Given the description of an element on the screen output the (x, y) to click on. 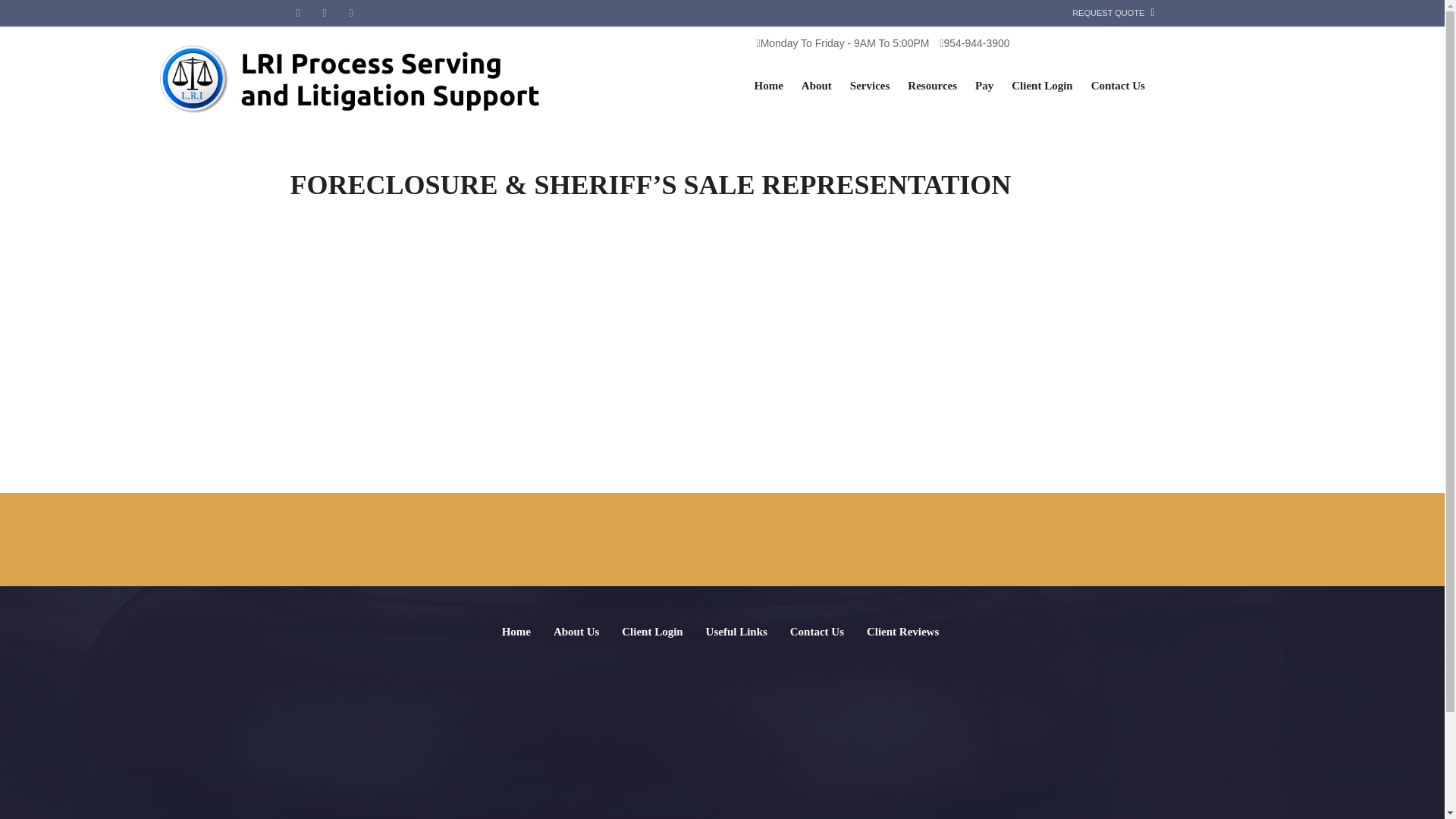
Resources (932, 88)
Contact Us (1117, 88)
Home (768, 88)
Home (516, 631)
About (816, 88)
Useful Links (736, 631)
Client Login (651, 631)
Client Reviews (902, 631)
Client Login (1042, 88)
Services (869, 88)
